Given the description of an element on the screen output the (x, y) to click on. 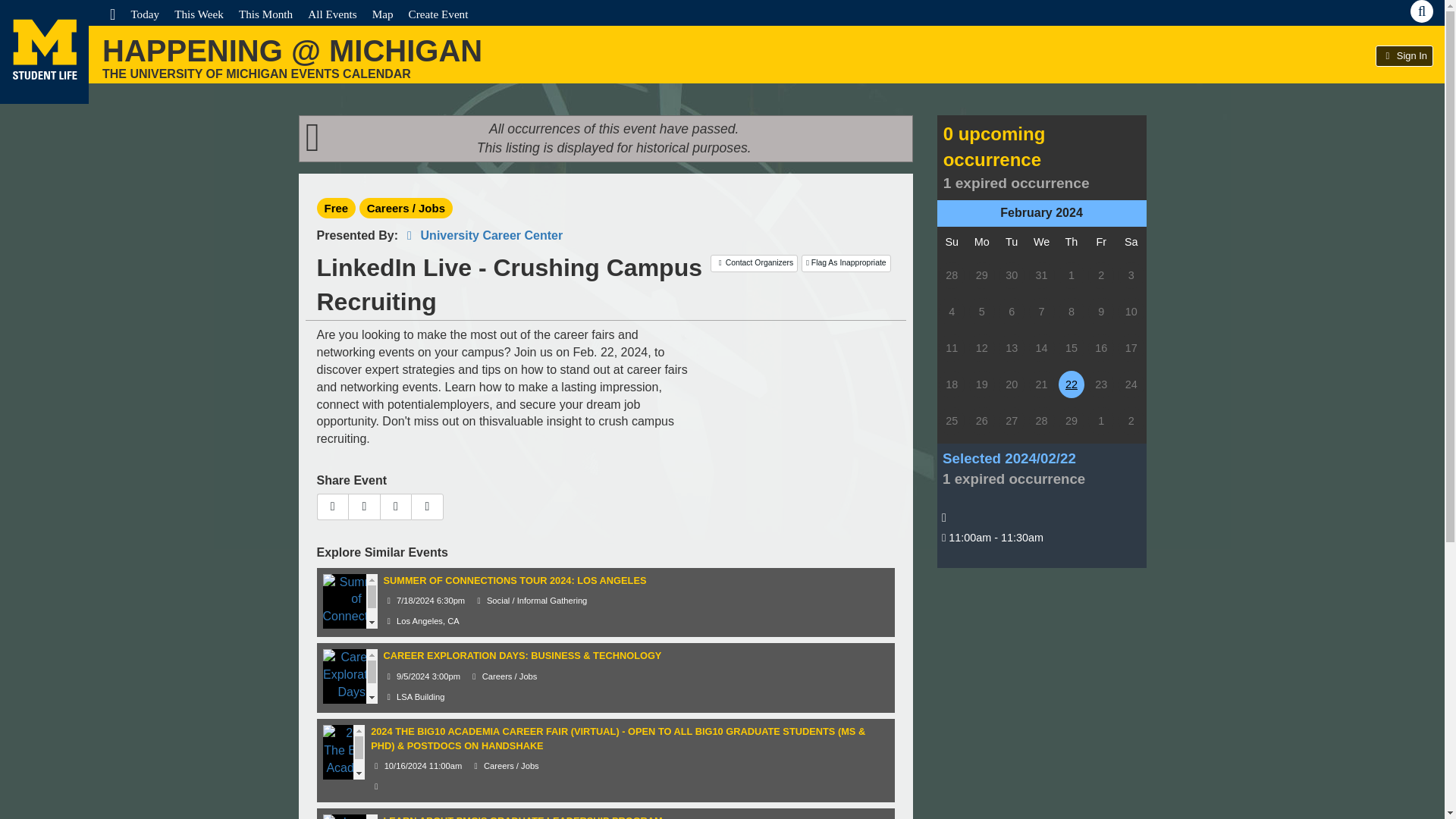
Sign In (1403, 55)
This Month (265, 13)
University Career Center (482, 235)
Map (382, 13)
Check out other Free events (336, 208)
This Week (199, 13)
Tuesday (1011, 241)
Wednesday (1041, 241)
LEARN ABOUT PMG'S GRADUATE LEADERSHIP PROGRAM (523, 816)
All Events (331, 13)
Flag As Inappropriate (845, 262)
Share on Tumblr (396, 506)
Monday (982, 241)
Los Angeles, CA (422, 620)
Summer of Connections Tour 2024: Los Angeles (356, 615)
